Given the description of an element on the screen output the (x, y) to click on. 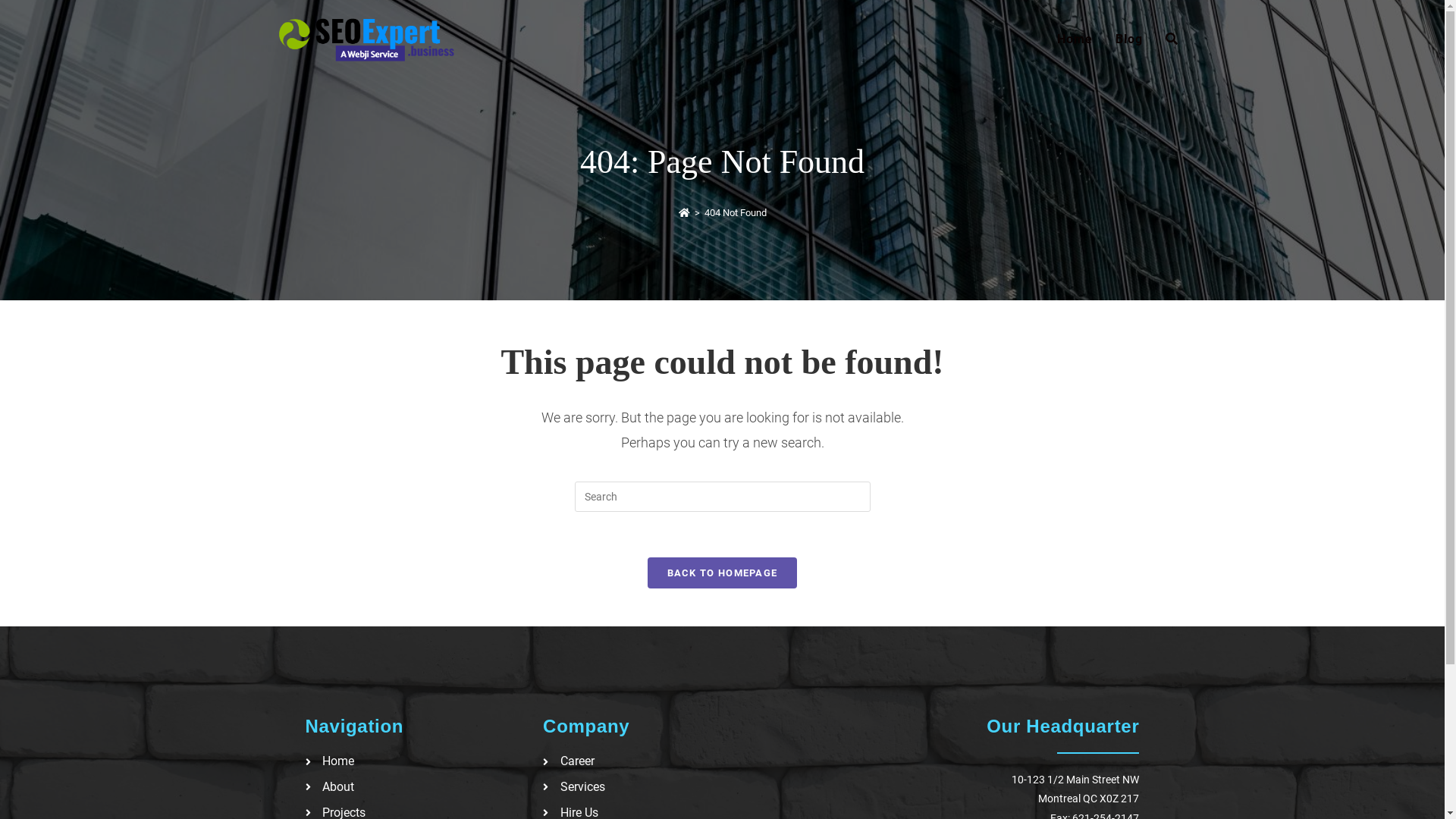
Home Element type: text (415, 761)
Services Element type: text (653, 787)
404 Not Found Element type: text (734, 212)
Home Element type: text (1073, 38)
About Element type: text (415, 787)
Blog Element type: text (1129, 38)
BACK TO HOMEPAGE Element type: text (722, 572)
Career Element type: text (653, 761)
